Given the description of an element on the screen output the (x, y) to click on. 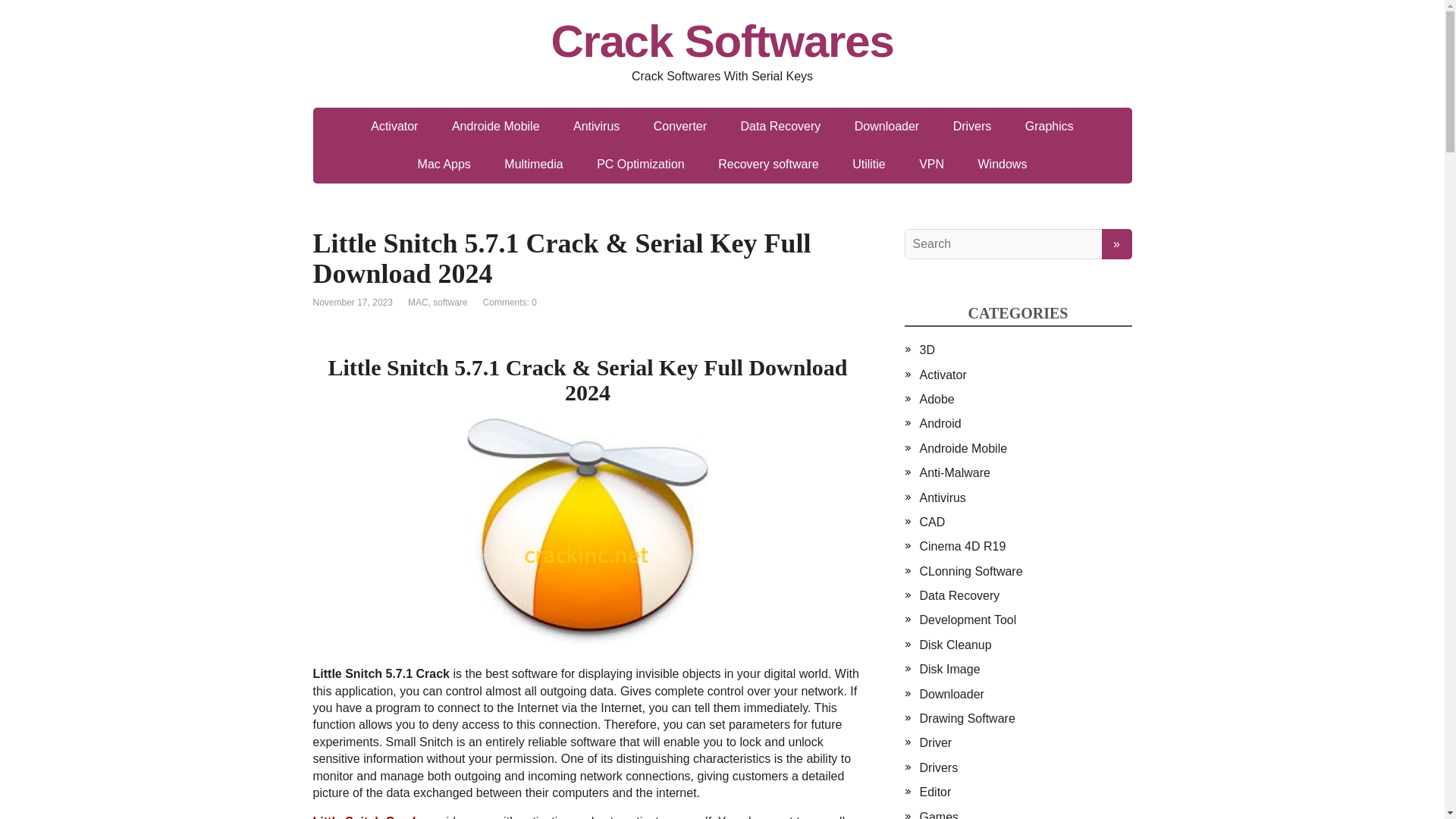
Drivers (972, 126)
Antivirus (595, 126)
Utilitie (869, 164)
VPN (931, 164)
Activator (393, 126)
Multimedia (533, 164)
Recovery software (768, 164)
Windows (1002, 164)
Comments: 0 (510, 302)
Downloader (887, 126)
